Given the description of an element on the screen output the (x, y) to click on. 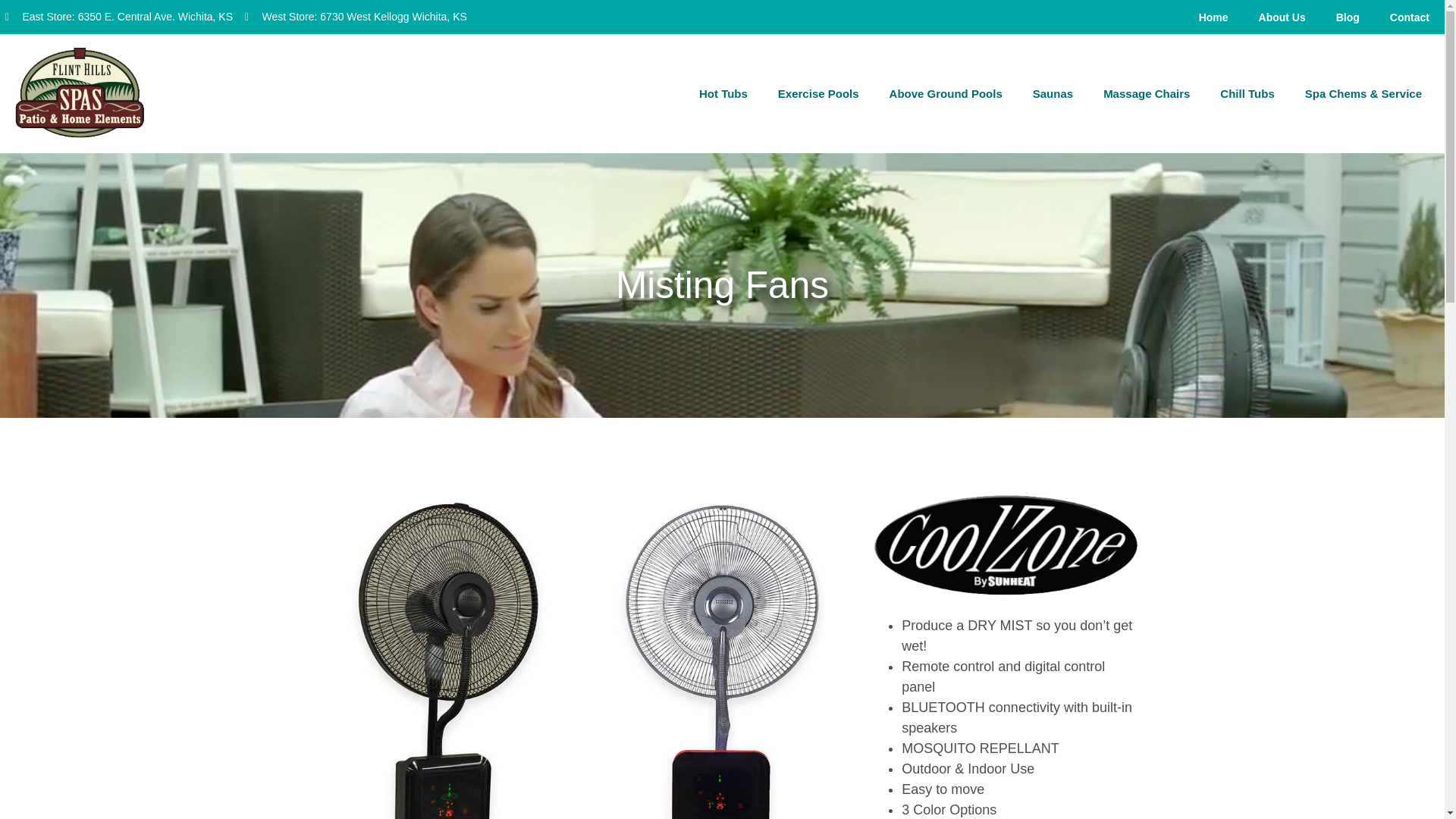
Above Ground Pools (946, 93)
Hot Tubs (723, 93)
East Store: 6350 E. Central Ave. Wichita, KS (118, 17)
West Store: 6730 West Kellogg Wichita, KS (355, 17)
Saunas (1052, 93)
About Us (1281, 16)
Chill Tubs (1246, 93)
Blog (1347, 16)
Exercise Pools (818, 93)
Massage Chairs (1146, 93)
Home (1213, 16)
